Given the description of an element on the screen output the (x, y) to click on. 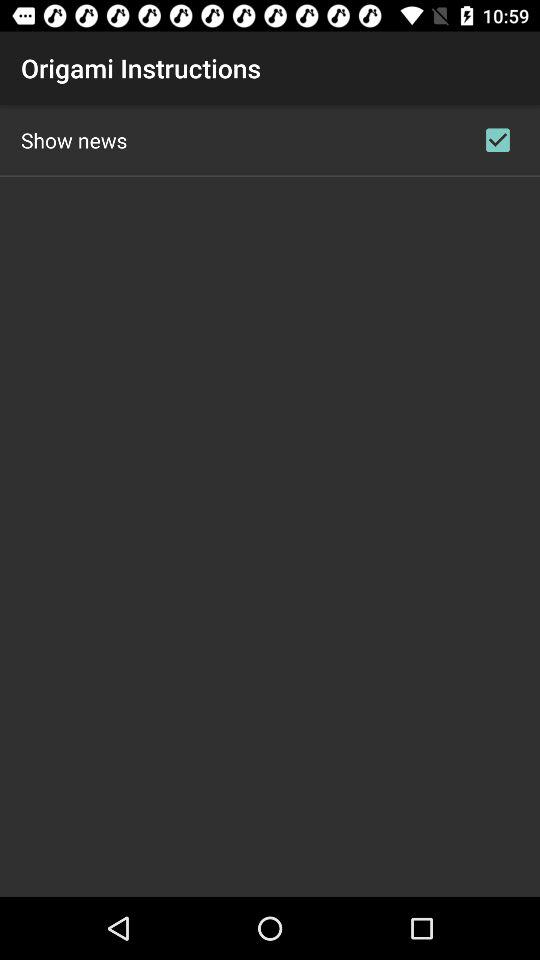
open the item to the right of the show news app (497, 140)
